Given the description of an element on the screen output the (x, y) to click on. 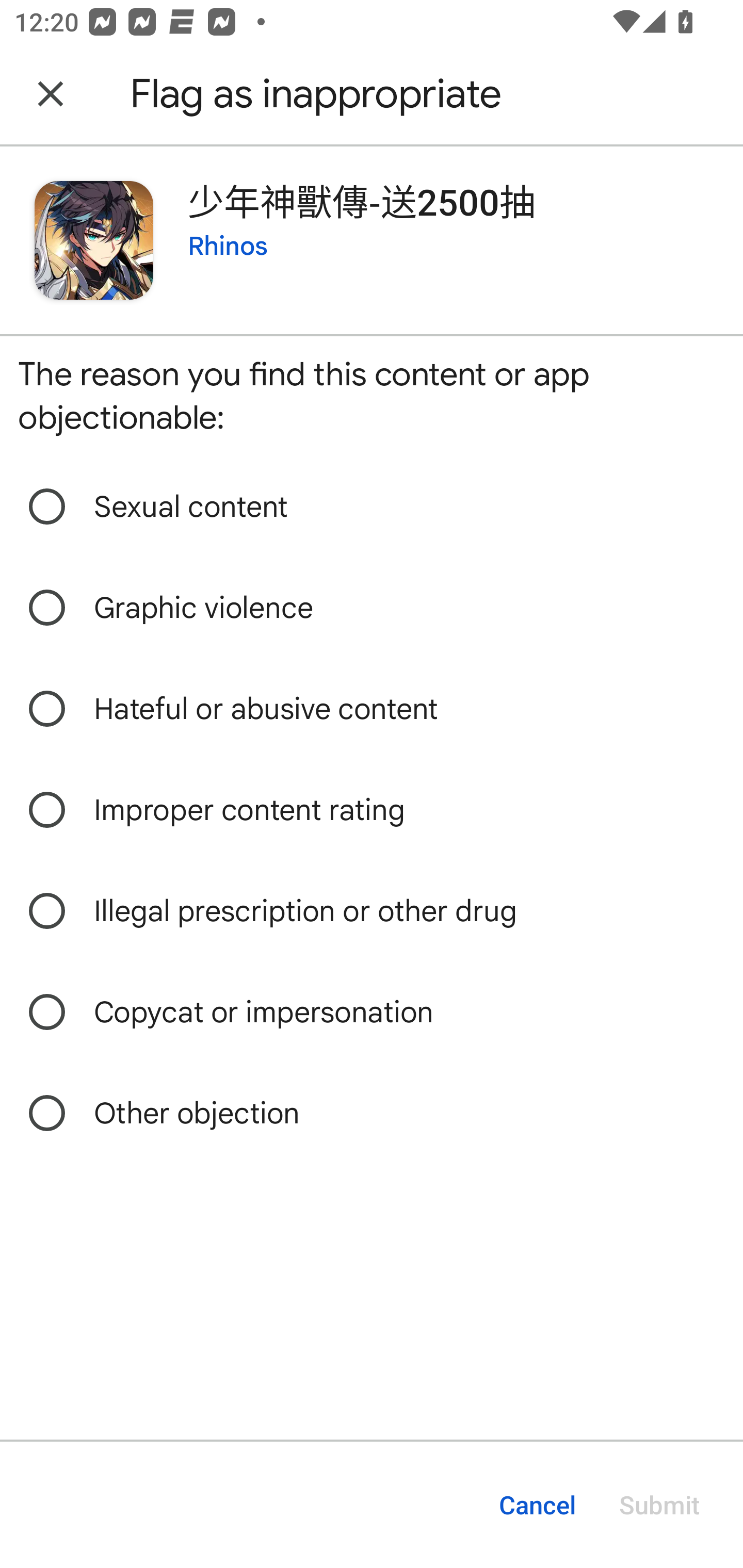
Close (50, 93)
Rhinos (227, 244)
Sexual content (371, 506)
Graphic violence (371, 607)
Hateful or abusive content (371, 708)
Improper content rating (371, 809)
Illegal prescription or other drug (371, 910)
Copycat or impersonation (371, 1012)
Other objection (371, 1113)
Cancel (537, 1504)
Submit (659, 1504)
